Given the description of an element on the screen output the (x, y) to click on. 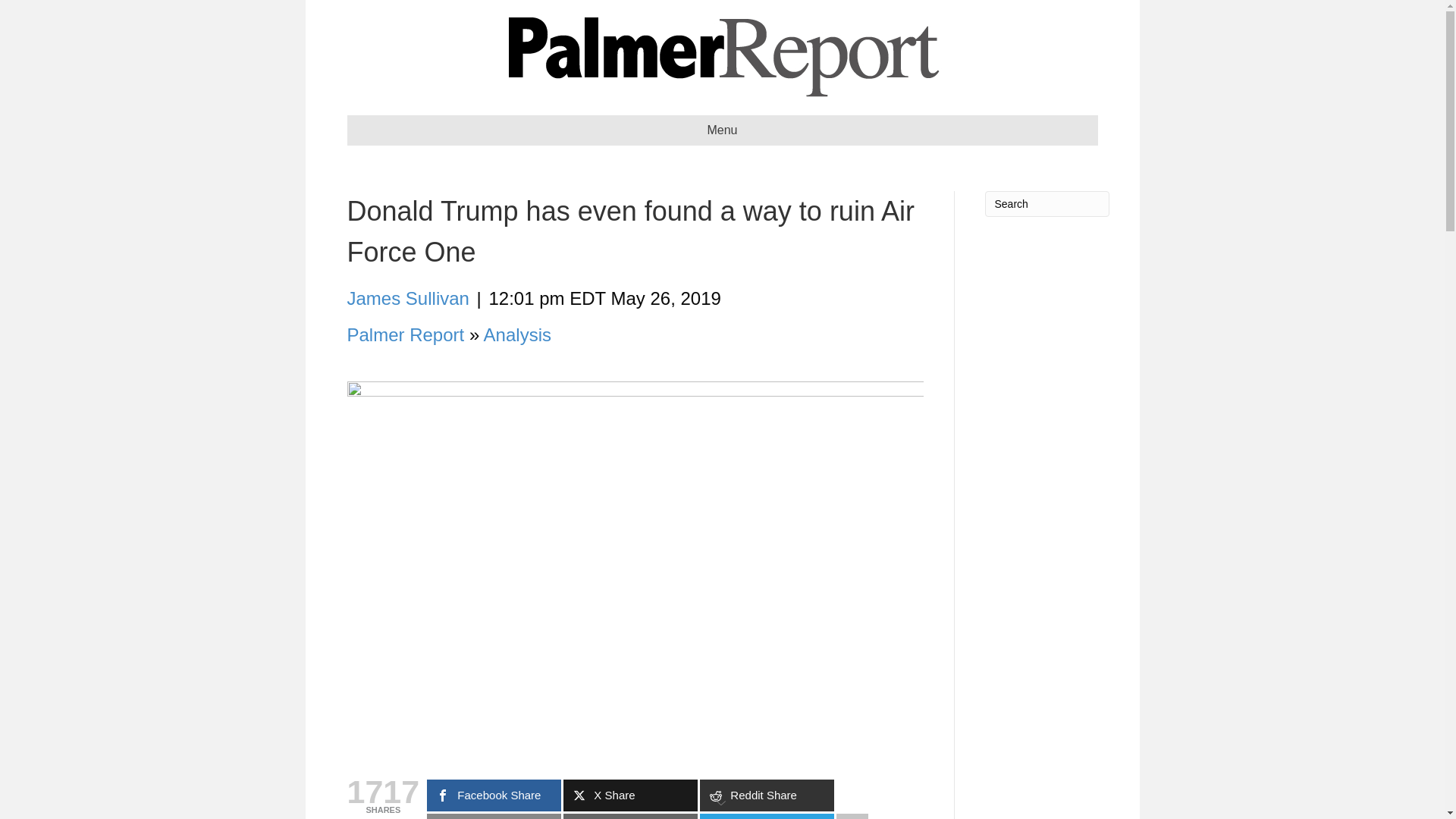
X Share (630, 795)
Palmer Report (405, 334)
Ad.Plus Advertising (722, 801)
Type and press Enter to search. (1046, 203)
James Sullivan (407, 298)
Search (1046, 203)
Analysis (517, 334)
Menu (722, 130)
Search (1046, 203)
Facebook Share (493, 795)
Email this article (493, 816)
Posts by James Sullivan (407, 298)
Print Article (630, 816)
LinkedIn Share (767, 816)
Reddit Share (767, 795)
